Given the description of an element on the screen output the (x, y) to click on. 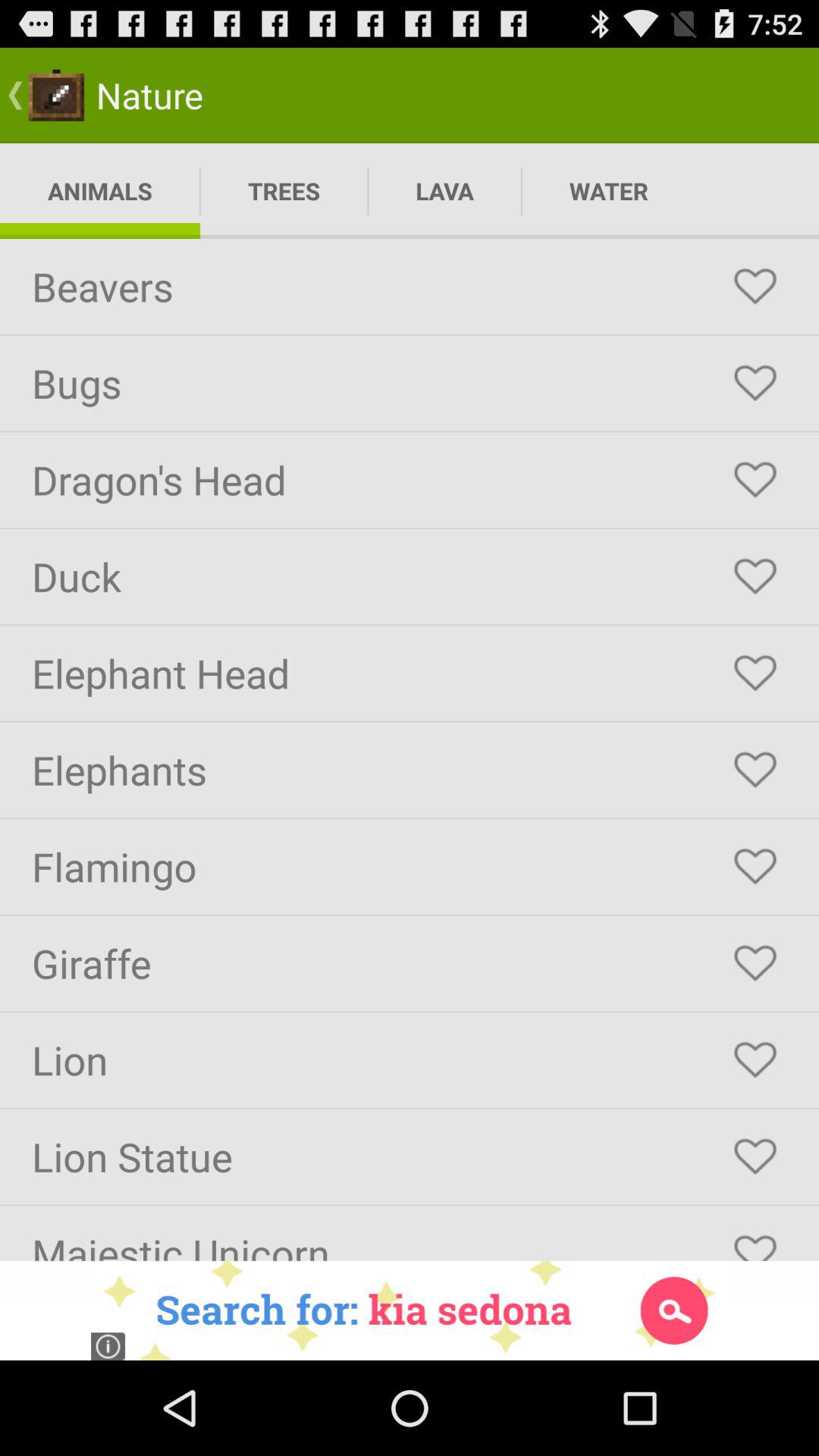
add giraffe to favorites (755, 963)
